Given the description of an element on the screen output the (x, y) to click on. 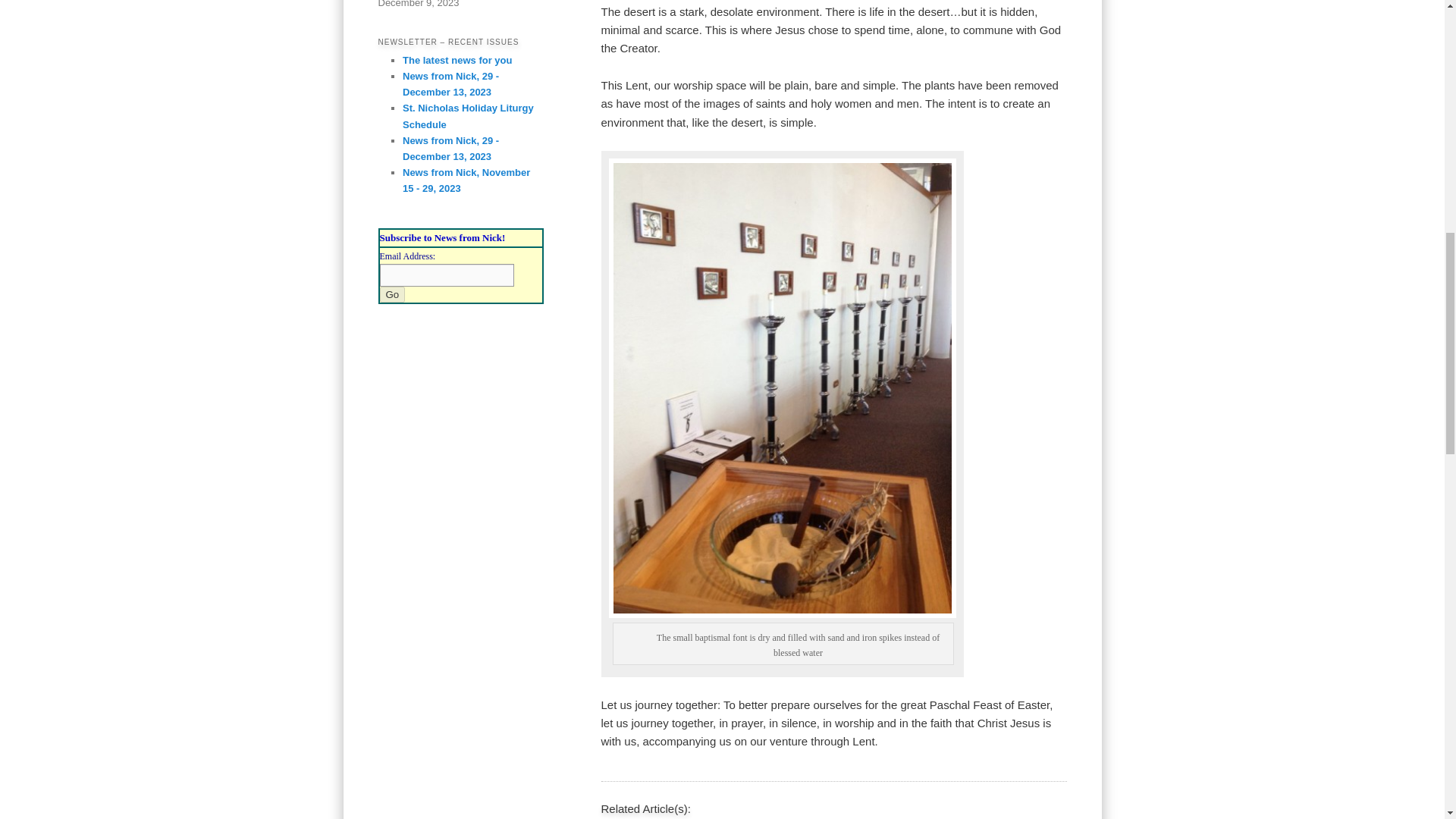
Go (391, 294)
